Given the description of an element on the screen output the (x, y) to click on. 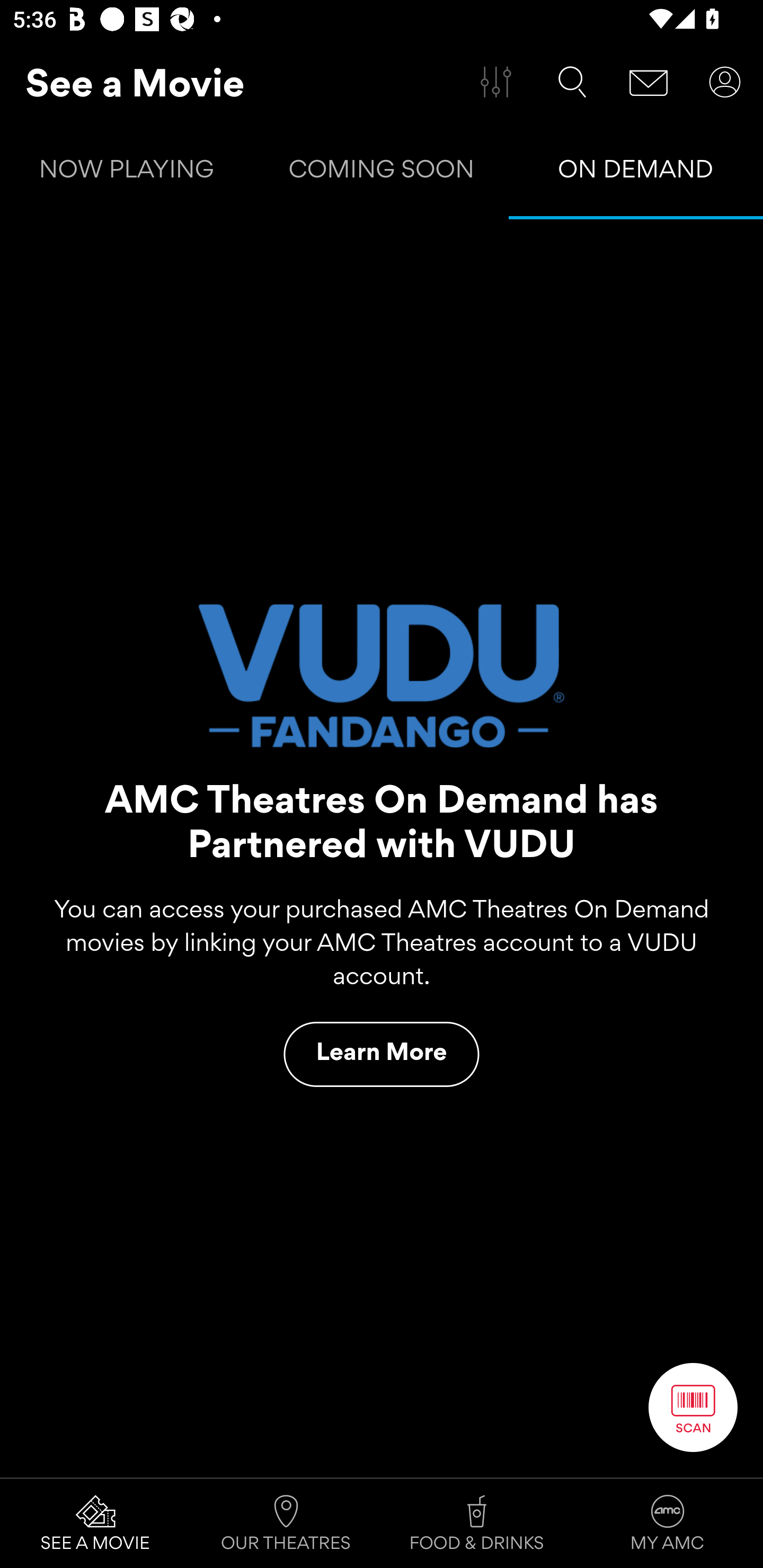
Search (572, 82)
Message Center (648, 82)
User Account (724, 82)
NOW PLAYING
Tab 1 of 3 (127, 173)
COMING SOON
Tab 2 of 3 (381, 173)
ON DEMAND
Tab 3 of 3 (635, 173)
Learn More (381, 1054)
Scan Button (692, 1406)
SEE A MOVIE
Tab 1 of 4 (95, 1523)
OUR THEATRES
Tab 2 of 4 (285, 1523)
FOOD & DRINKS
Tab 3 of 4 (476, 1523)
MY AMC
Tab 4 of 4 (667, 1523)
